Given the description of an element on the screen output the (x, y) to click on. 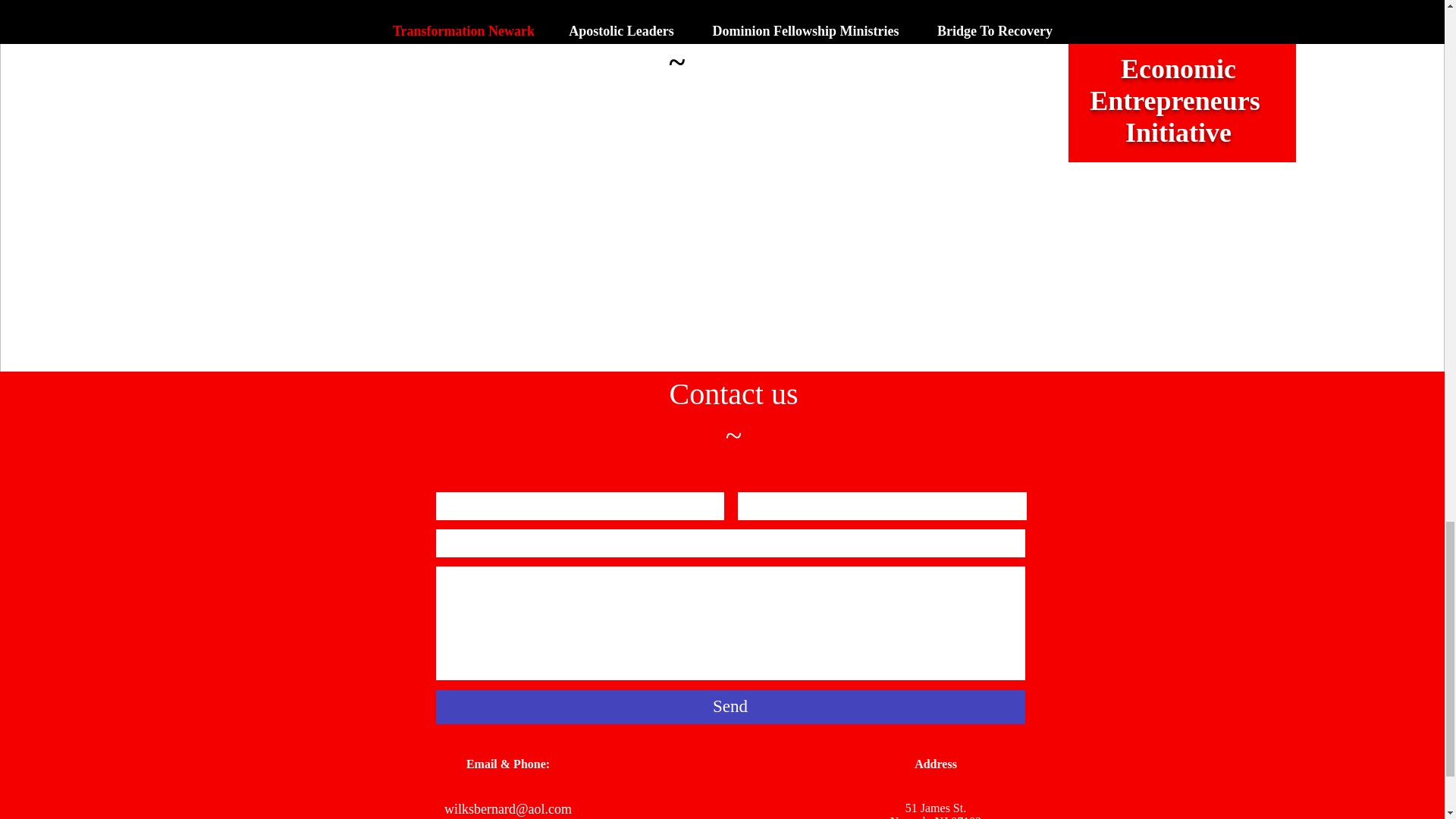
Initiative (1178, 132)
Send (730, 706)
Economic (1178, 69)
Entrepreneurs (1174, 100)
